Given the description of an element on the screen output the (x, y) to click on. 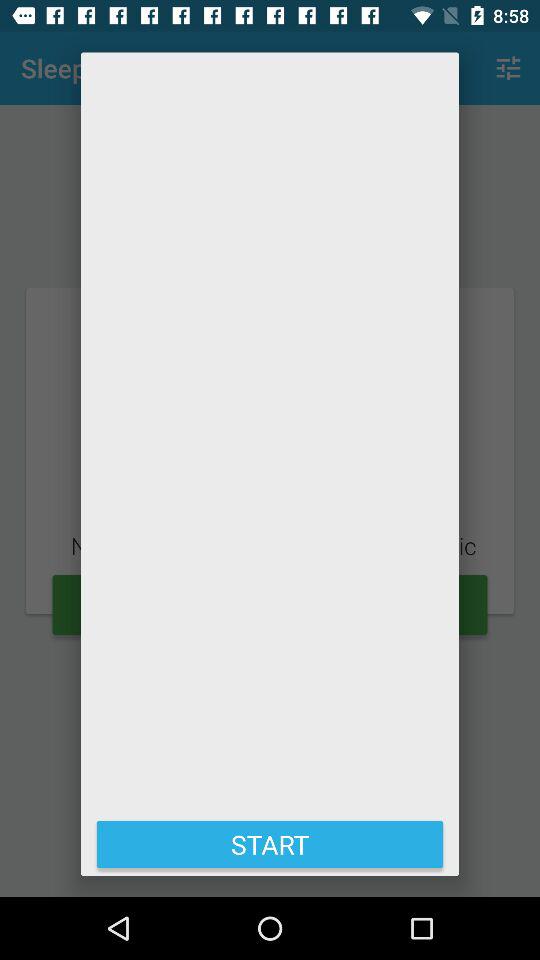
turn on the start at the bottom (269, 844)
